Given the description of an element on the screen output the (x, y) to click on. 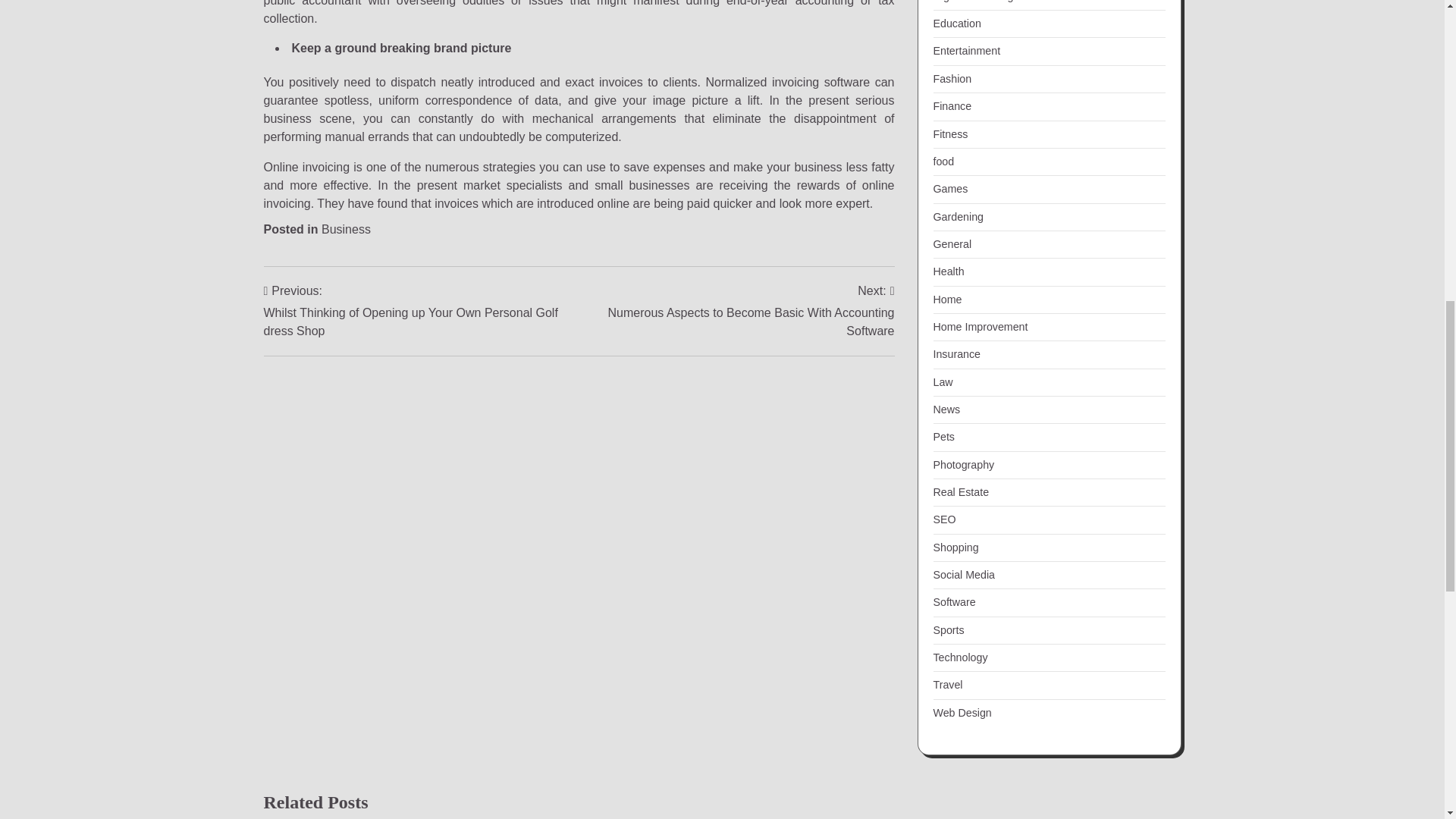
food (943, 161)
Finance (952, 105)
Fashion (952, 78)
Education (956, 23)
Law (942, 381)
Fitness (950, 133)
Insurance (956, 354)
Home (946, 299)
Home Improvement (980, 326)
Entertainment (966, 50)
General (952, 244)
Games (950, 188)
Gardening (957, 216)
